Given the description of an element on the screen output the (x, y) to click on. 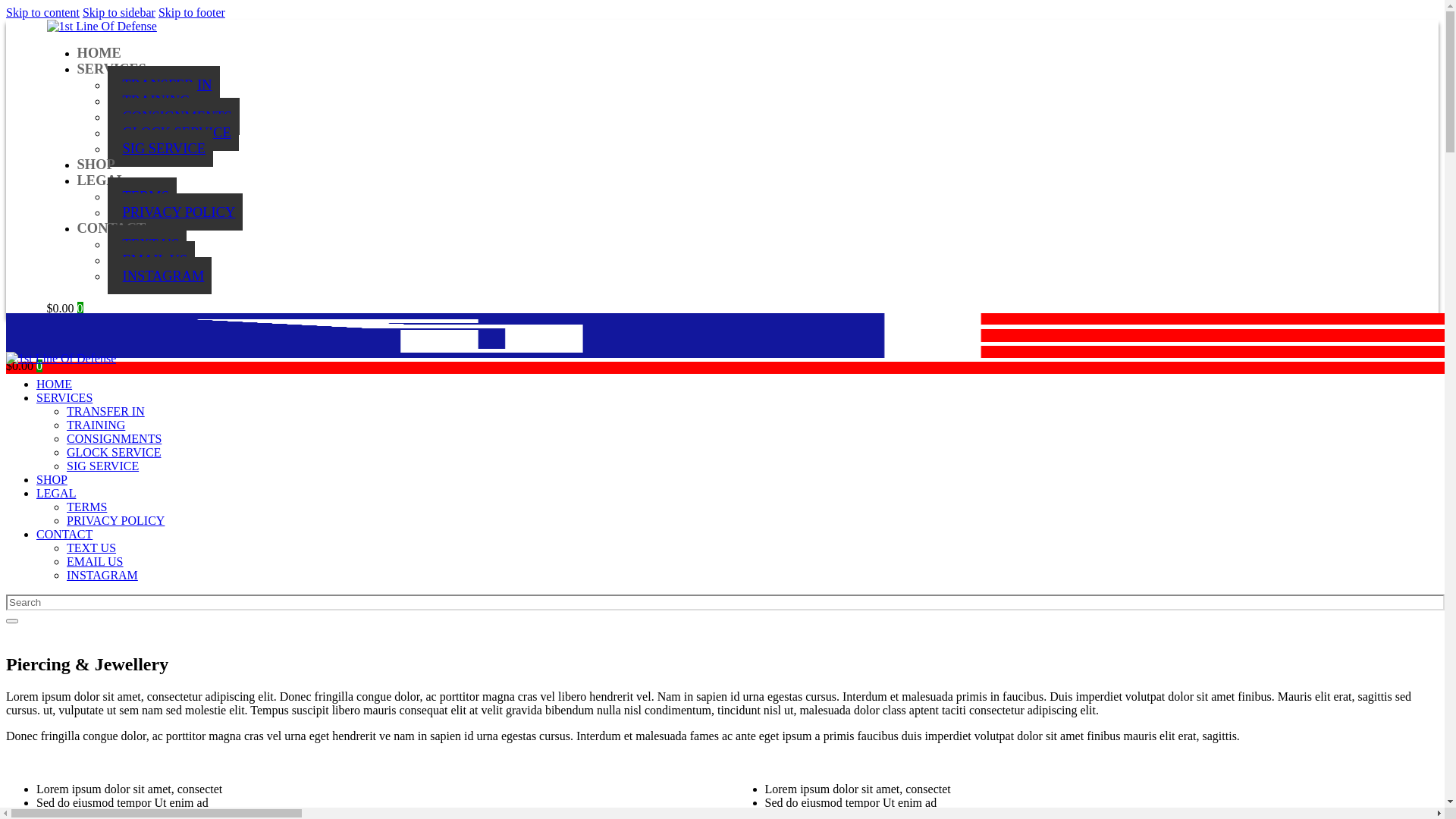
TERMS Element type: text (141, 195)
LEGAL Element type: text (55, 492)
Skip to content Element type: text (42, 12)
INSTAGRAM Element type: text (159, 275)
Skip to footer Element type: text (191, 12)
CONTACT Element type: text (111, 227)
HOME Element type: text (99, 52)
HOME Element type: text (54, 383)
PRIVACY POLICY Element type: text (115, 520)
Skip to sidebar Element type: text (118, 12)
SIG SERVICE Element type: text (160, 147)
INSTAGRAM Element type: text (102, 574)
SERVICES Element type: text (111, 68)
SIG SERVICE Element type: text (102, 465)
TRAINING Element type: text (95, 424)
CONTACT Element type: text (64, 533)
LEGAL Element type: text (101, 180)
SHOP Element type: text (96, 164)
CONSIGNMENTS Element type: text (113, 438)
TRAINING Element type: text (152, 100)
GLOCK SERVICE Element type: text (172, 131)
GLOCK SERVICE Element type: text (113, 451)
EMAIL US Element type: text (94, 561)
TRANSFER IN Element type: text (105, 410)
SHOP Element type: text (51, 479)
TEXT US Element type: text (91, 547)
EMAIL US Element type: text (151, 259)
SERVICES Element type: text (64, 397)
PRIVACY POLICY Element type: text (175, 211)
TEXT US Element type: text (147, 243)
CONSIGNMENTS Element type: text (173, 115)
TRANSFER IN Element type: text (163, 84)
TERMS Element type: text (86, 506)
